Given the description of an element on the screen output the (x, y) to click on. 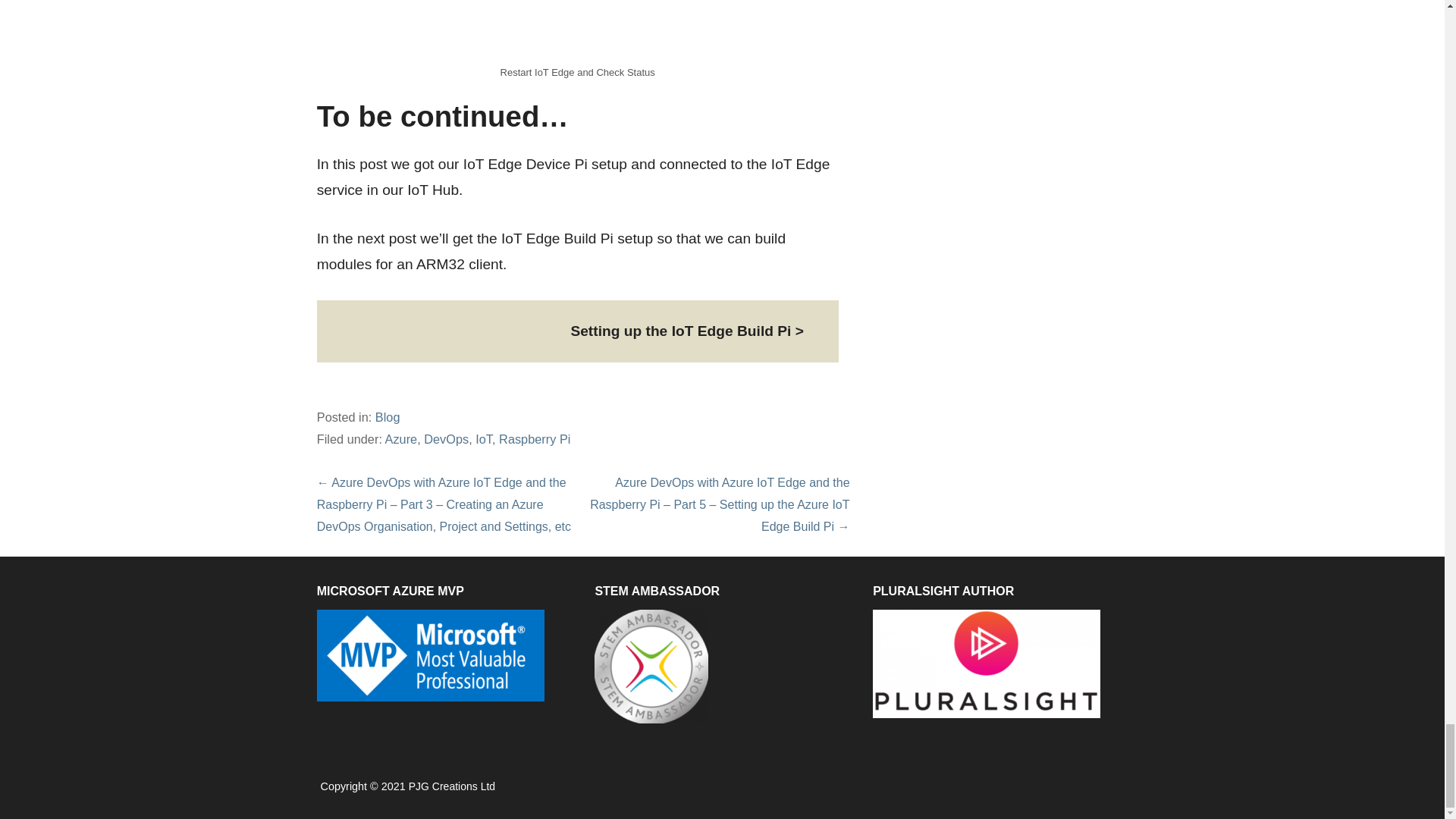
DevOps (445, 438)
Blog (387, 417)
STEM Ambassador (650, 666)
Azure (401, 438)
